Given the description of an element on the screen output the (x, y) to click on. 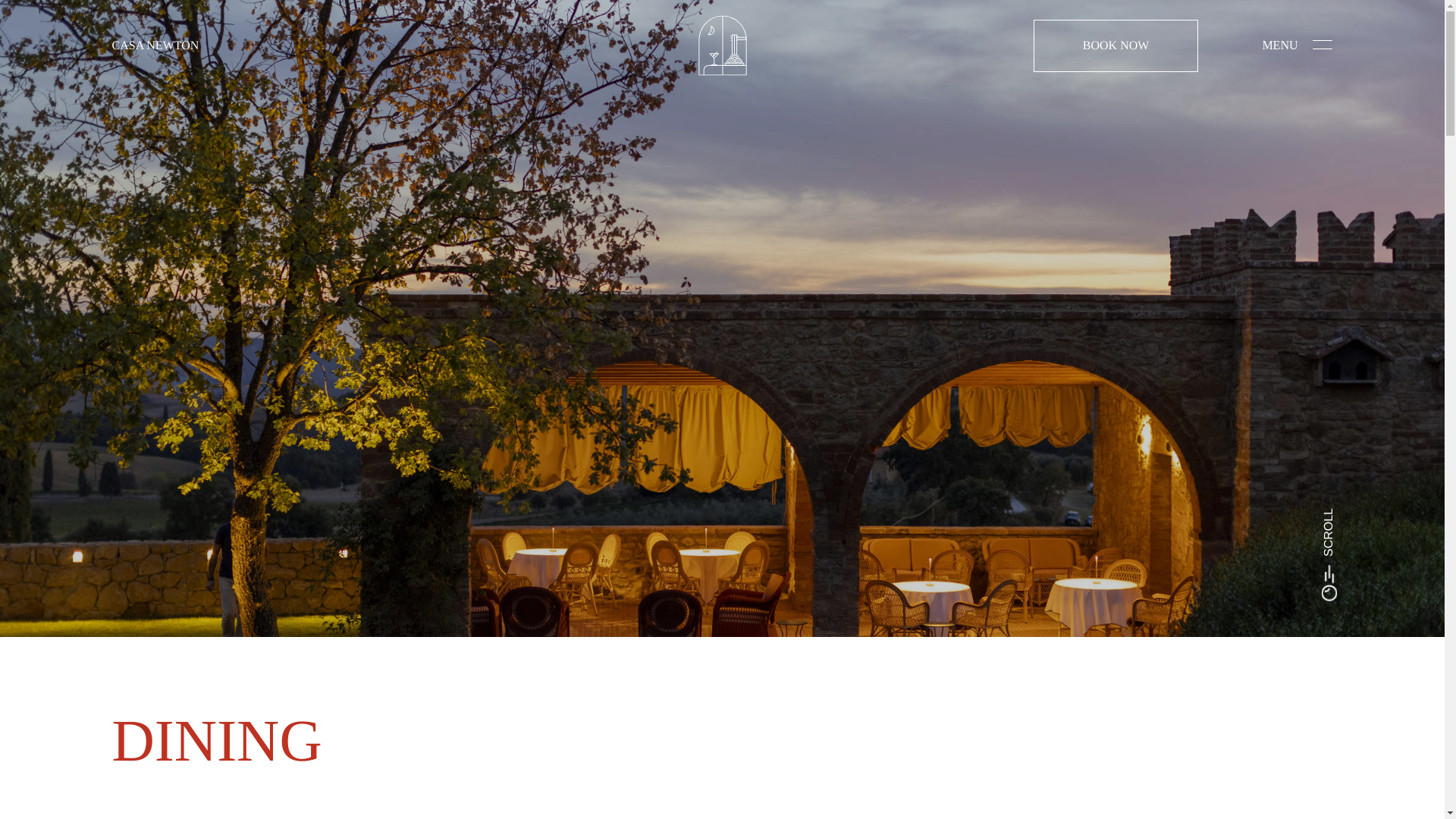
BOOK NOW (1115, 45)
SCROLL (1358, 533)
MENU (1297, 45)
